Given the description of an element on the screen output the (x, y) to click on. 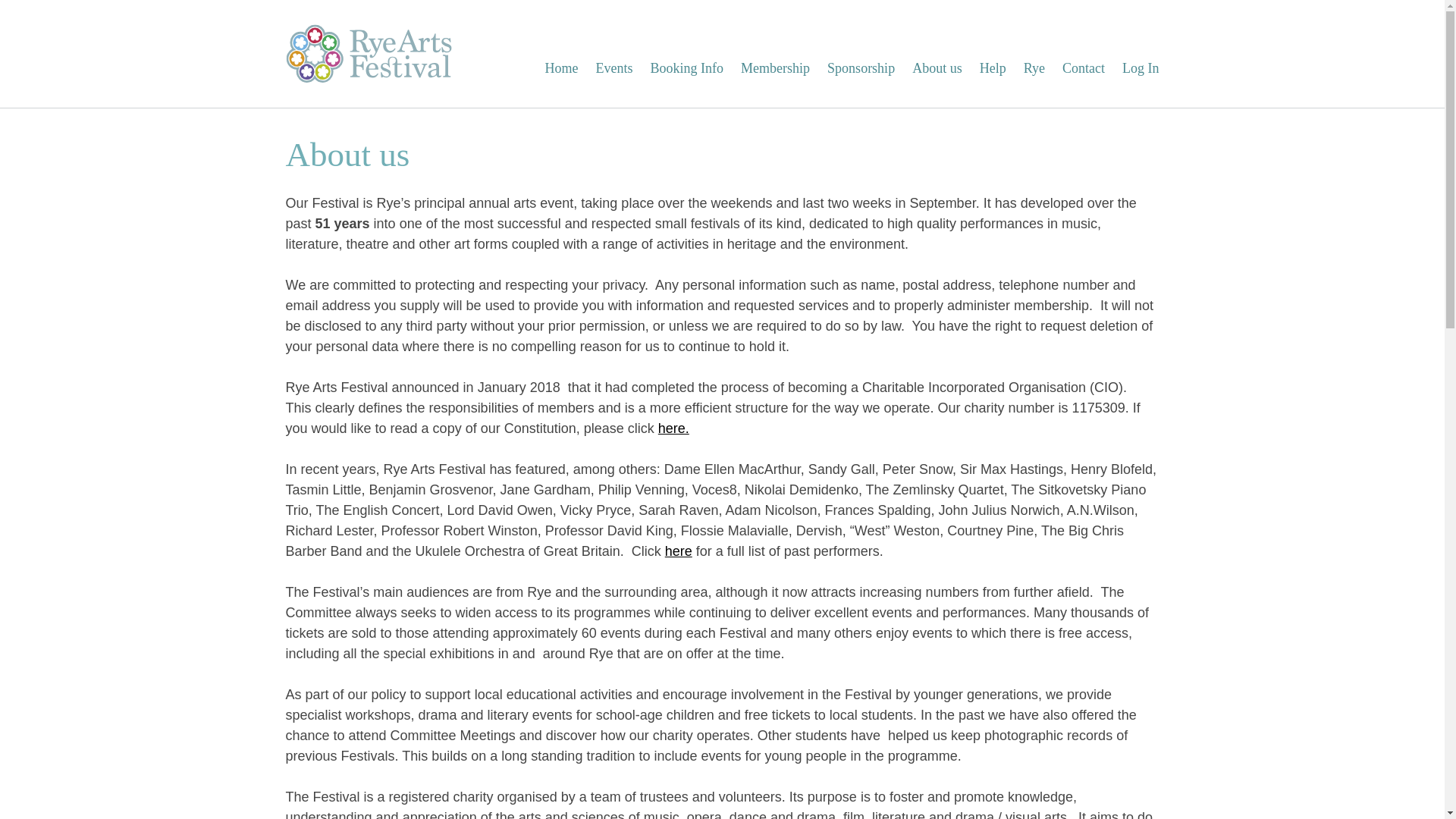
Rye (1034, 68)
Events (614, 68)
Contact (1083, 68)
Help (992, 68)
Membership (775, 68)
Rye Arts Festival (370, 54)
About us (937, 68)
here (679, 550)
Home (561, 68)
Booking Info (686, 68)
here. (673, 427)
Rye Arts Festival performers 1971 - 2014 (679, 550)
Sponsorship (861, 68)
Log In (1140, 68)
